Given the description of an element on the screen output the (x, y) to click on. 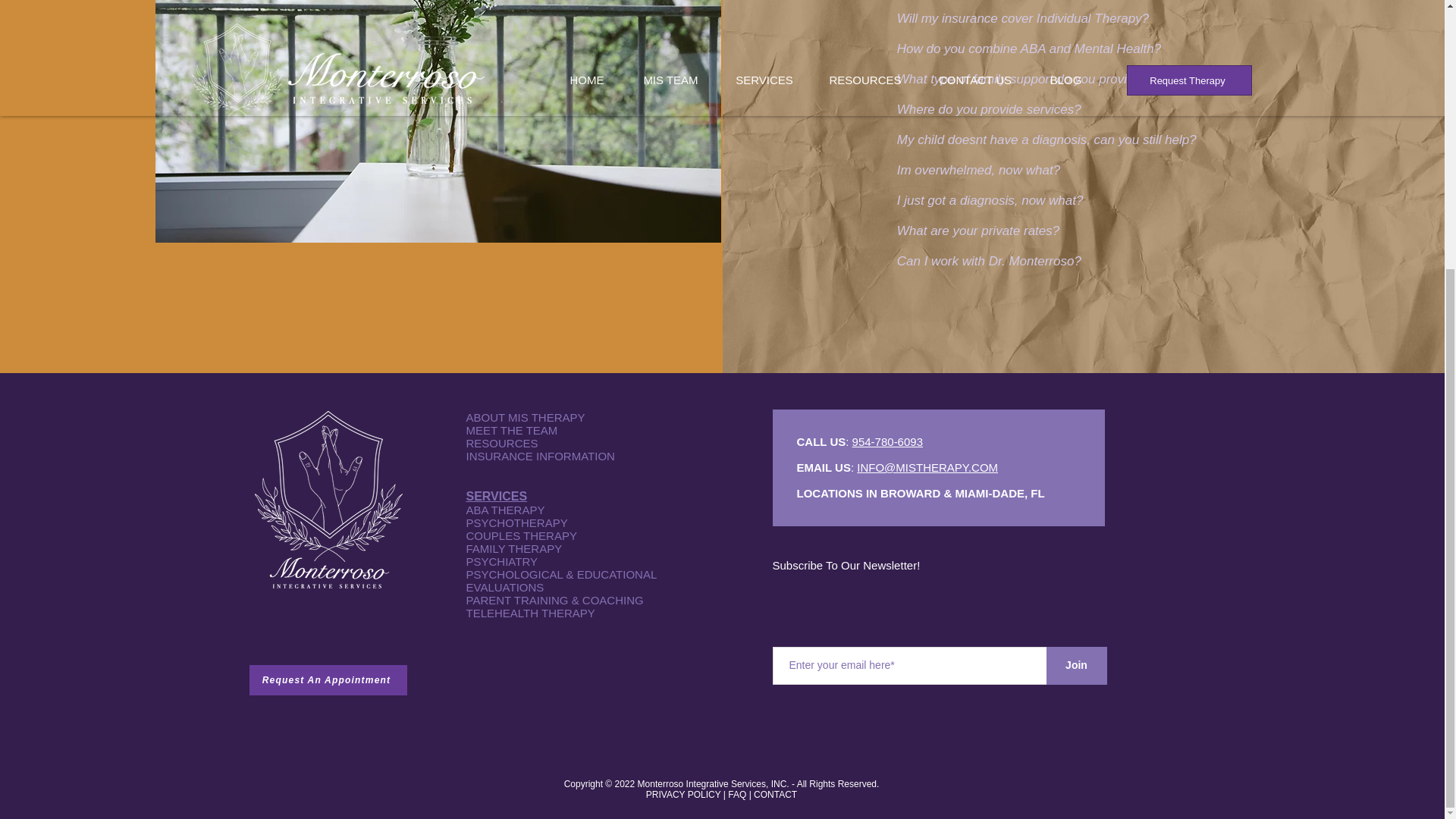
INSURANCE INFORMATION (539, 455)
ABA THERAPY (504, 509)
MEET THE TEAM (511, 430)
COUPLES THERAPY (520, 535)
SERVICES (496, 495)
RESOURCES (501, 442)
Request An Appointment (327, 680)
PSYCHIATRY (501, 561)
TELEHEALTH THERAPY (529, 612)
954-780-6093 (887, 440)
ABOUT MIS THERAPY (525, 417)
PSYCHOTHERAPY (516, 522)
